Given the description of an element on the screen output the (x, y) to click on. 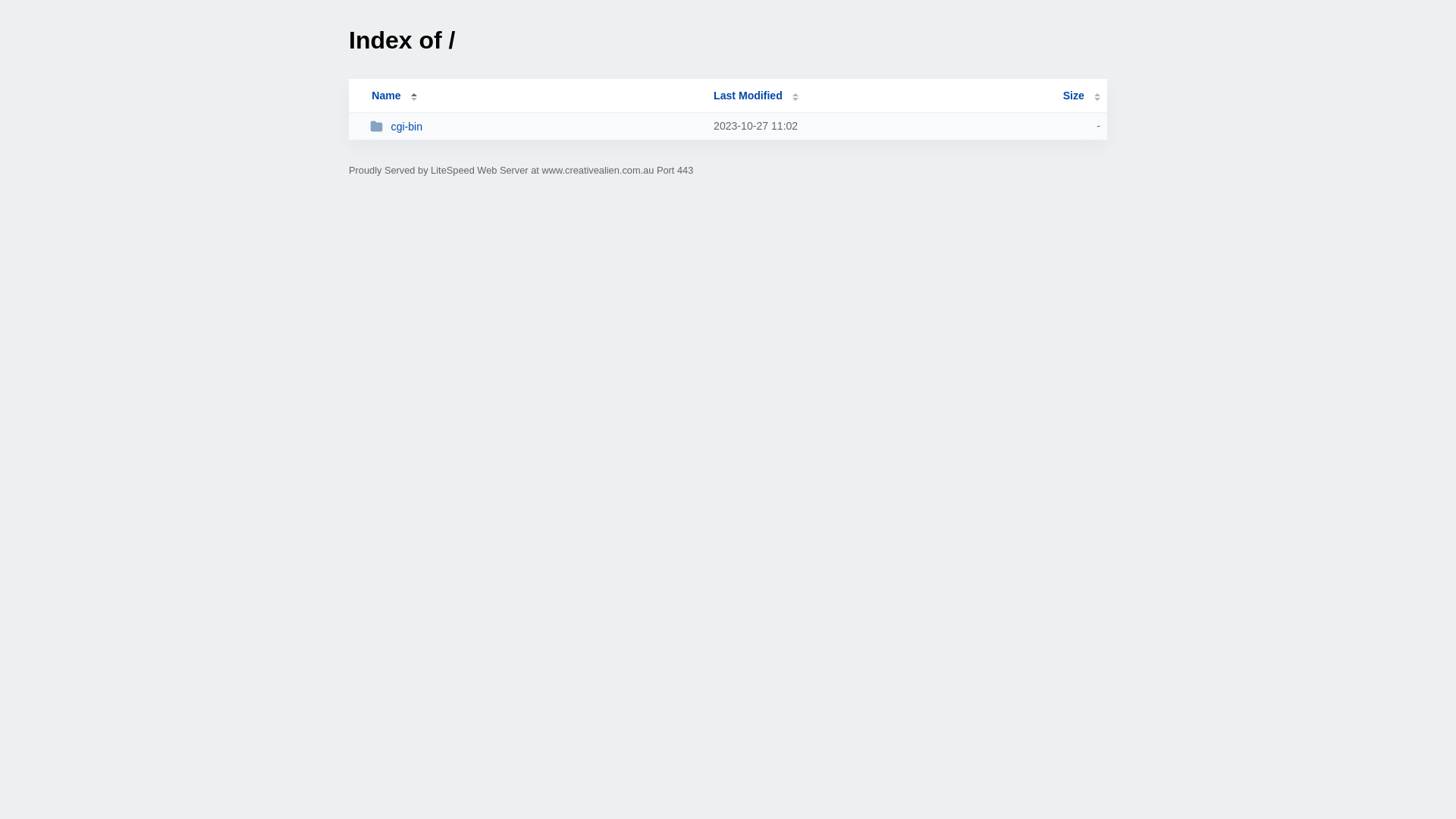
Size Element type: text (1081, 95)
Name Element type: text (385, 95)
cgi-bin Element type: text (534, 125)
Last Modified Element type: text (755, 95)
